Given the description of an element on the screen output the (x, y) to click on. 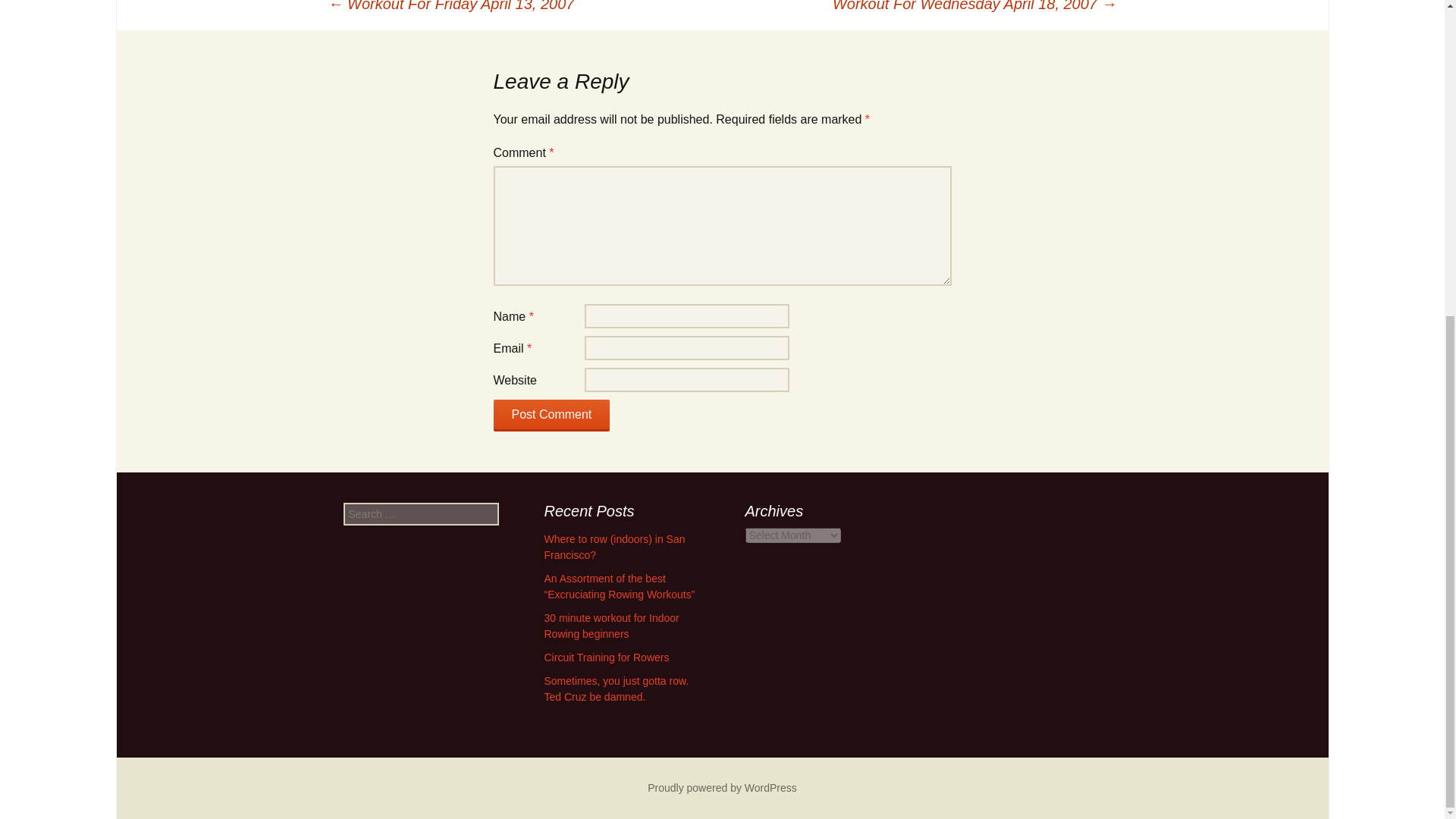
Circuit Training for Rowers (606, 657)
Sometimes, you just gotta row. Ted Cruz be damned. (616, 688)
Post Comment (551, 415)
Proudly powered by WordPress (721, 787)
Post Comment (551, 415)
30 minute workout for Indoor Rowing beginners (611, 625)
